Given the description of an element on the screen output the (x, y) to click on. 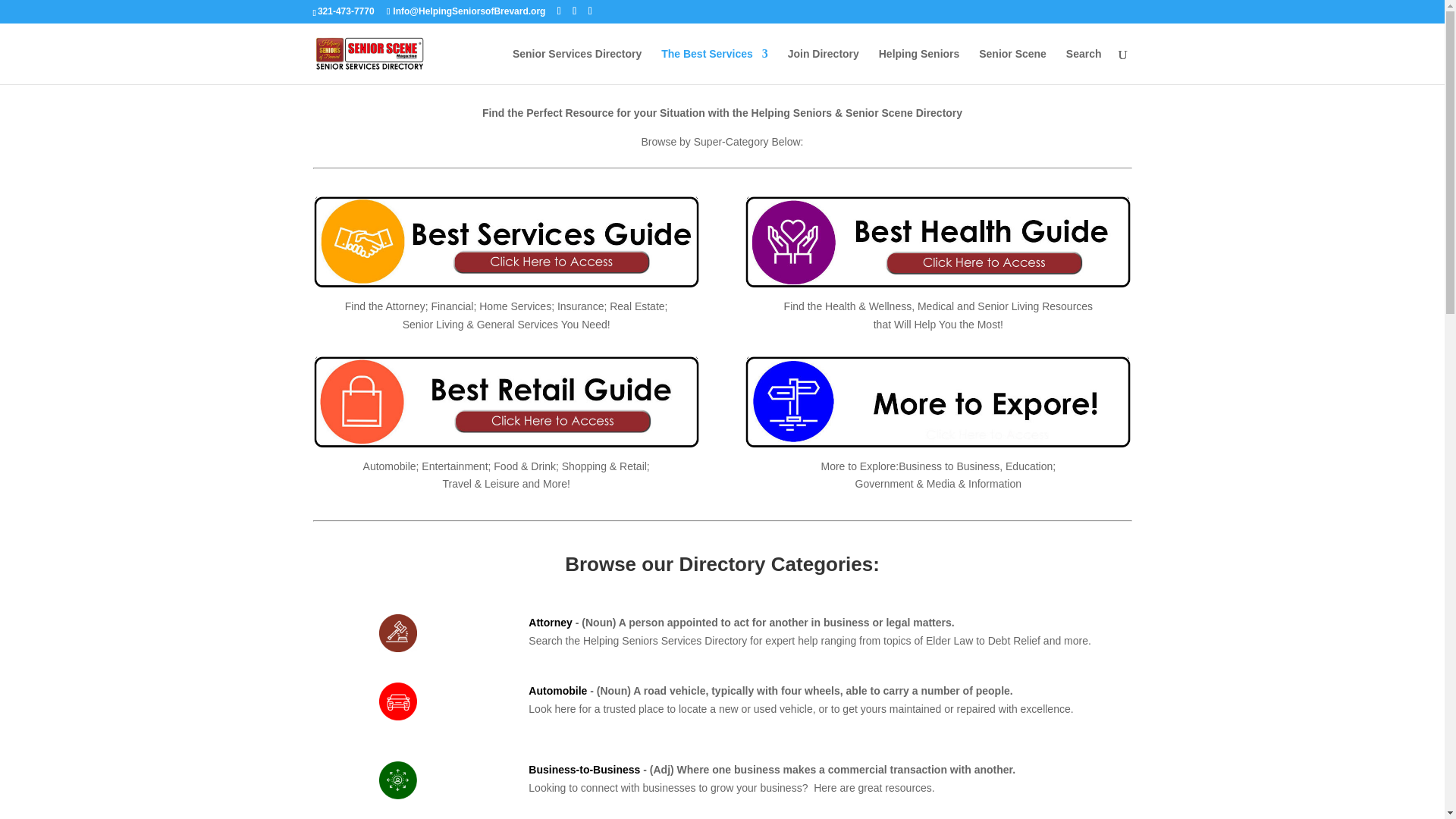
Senior Services Directory (577, 66)
Automobile (557, 690)
Helping Seniors (919, 66)
Attorney (550, 622)
Senior Scene (1012, 66)
The Best Services (714, 66)
Search (1083, 66)
Join Directory (823, 66)
Business-to-Business (584, 769)
